Given the description of an element on the screen output the (x, y) to click on. 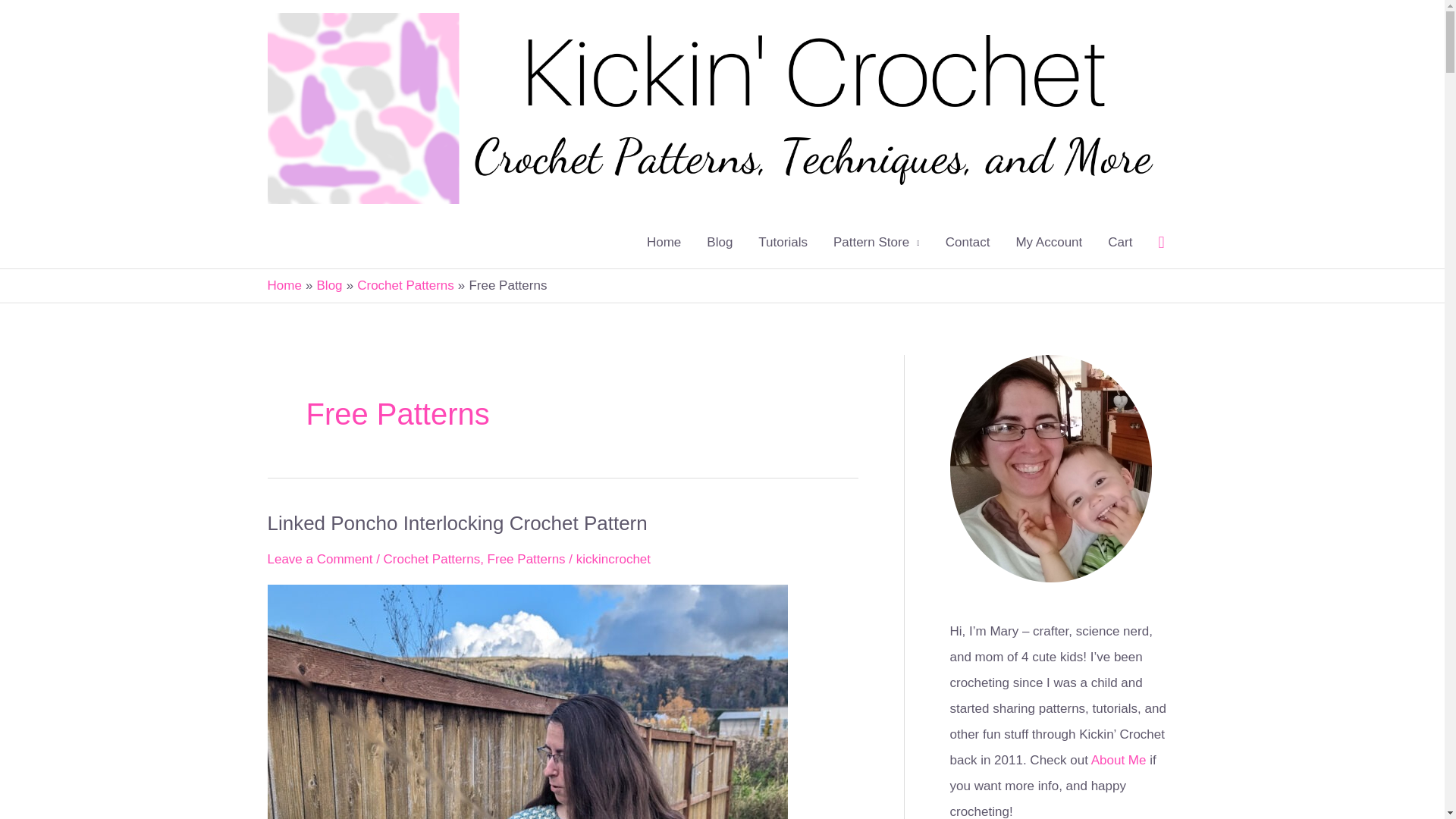
kickincrochet (613, 559)
Leave a Comment (319, 559)
View all posts by kickincrochet (613, 559)
Home (283, 285)
Crochet Patterns (432, 559)
Blog (329, 285)
Crochet Patterns (405, 285)
Tutorials (783, 242)
Blog (719, 242)
Cart (1119, 242)
Linked Poncho Interlocking Crochet Pattern (456, 522)
Free Patterns (526, 559)
Home (663, 242)
Pattern Store (877, 242)
Contact (968, 242)
